Given the description of an element on the screen output the (x, y) to click on. 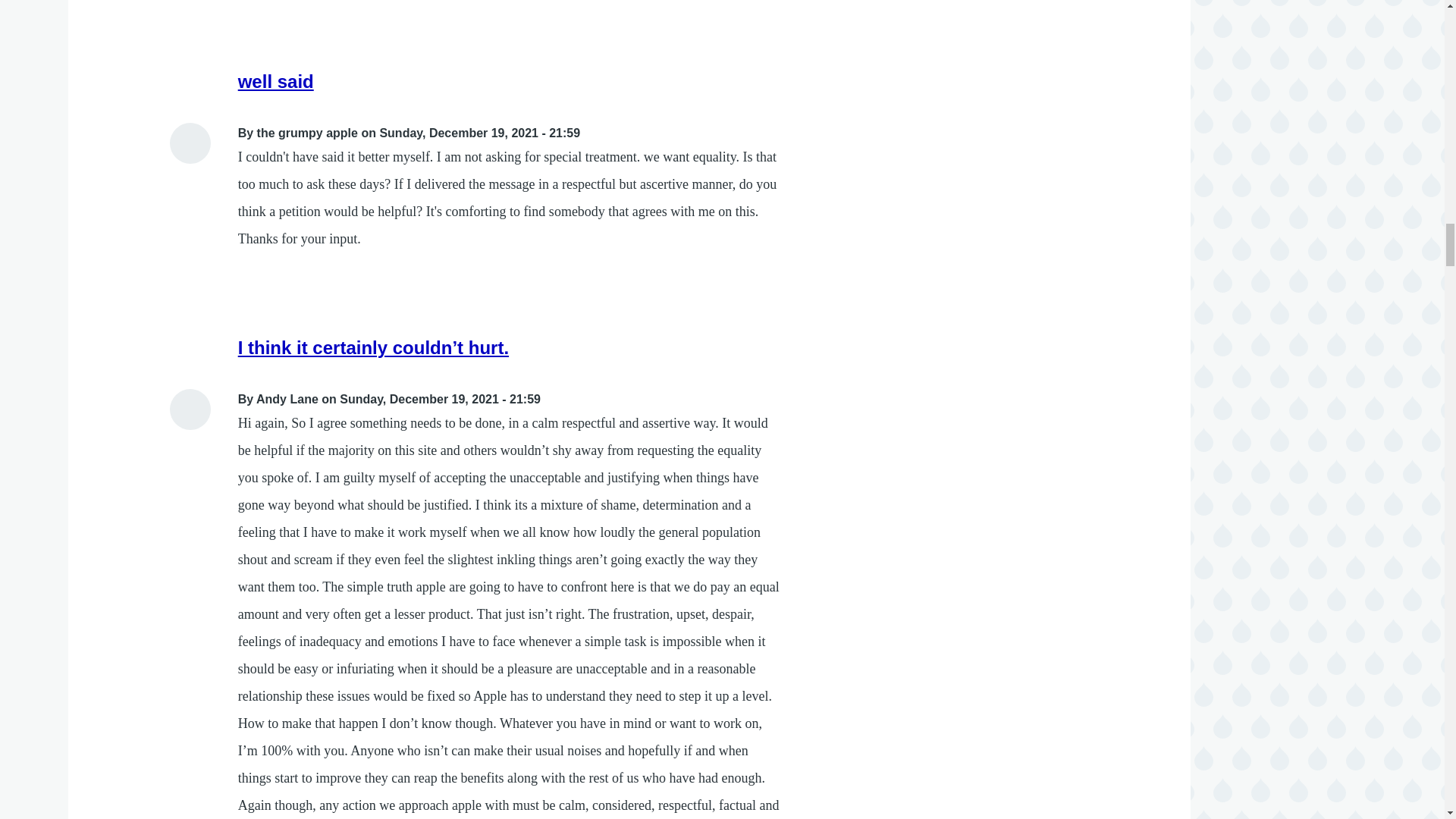
well said (276, 81)
